Given the description of an element on the screen output the (x, y) to click on. 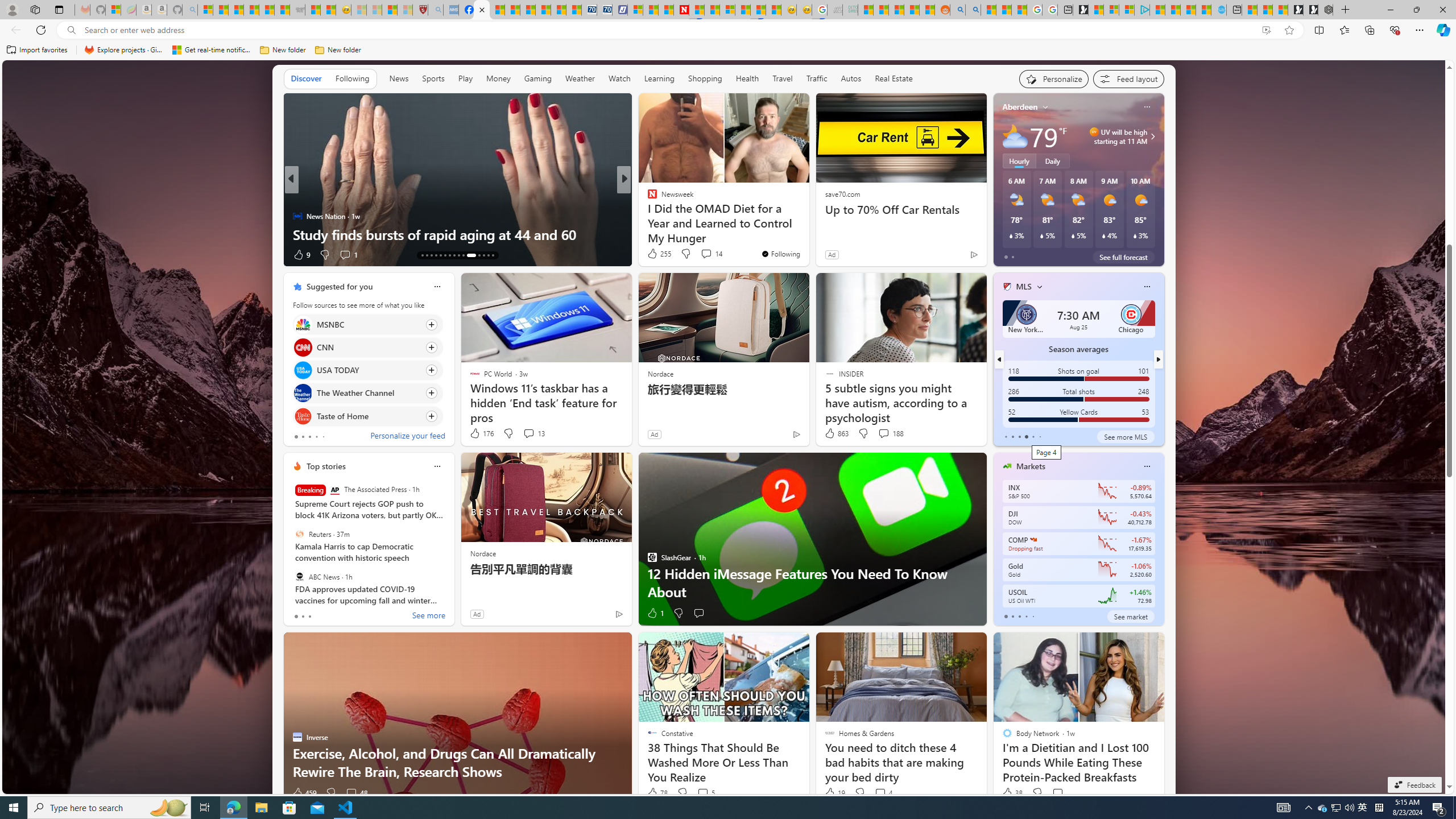
Autos (850, 79)
View comments 24 Comment (6, 254)
NASDAQ (1032, 539)
Up to 70% Off Car Rentals (900, 210)
View comments 23 Comment (6, 254)
Personalize your feed (407, 436)
tab-4 (1032, 616)
New Report Confirms 2023 Was Record Hot | Watch (266, 9)
tab-5 (1039, 436)
CNN (302, 346)
